Given the description of an element on the screen output the (x, y) to click on. 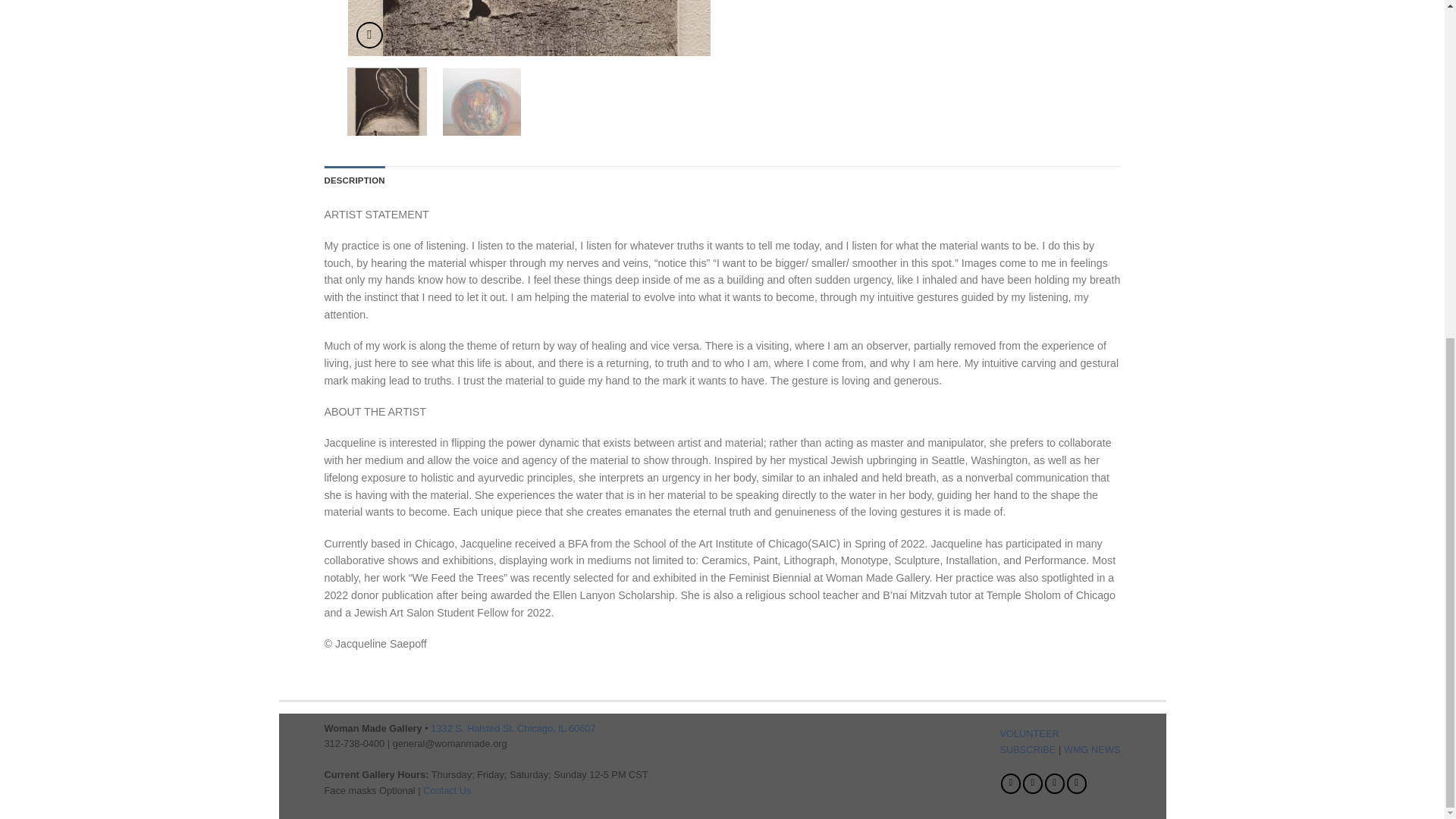
Zoom (369, 35)
saepoff-guide (529, 47)
